Given the description of an element on the screen output the (x, y) to click on. 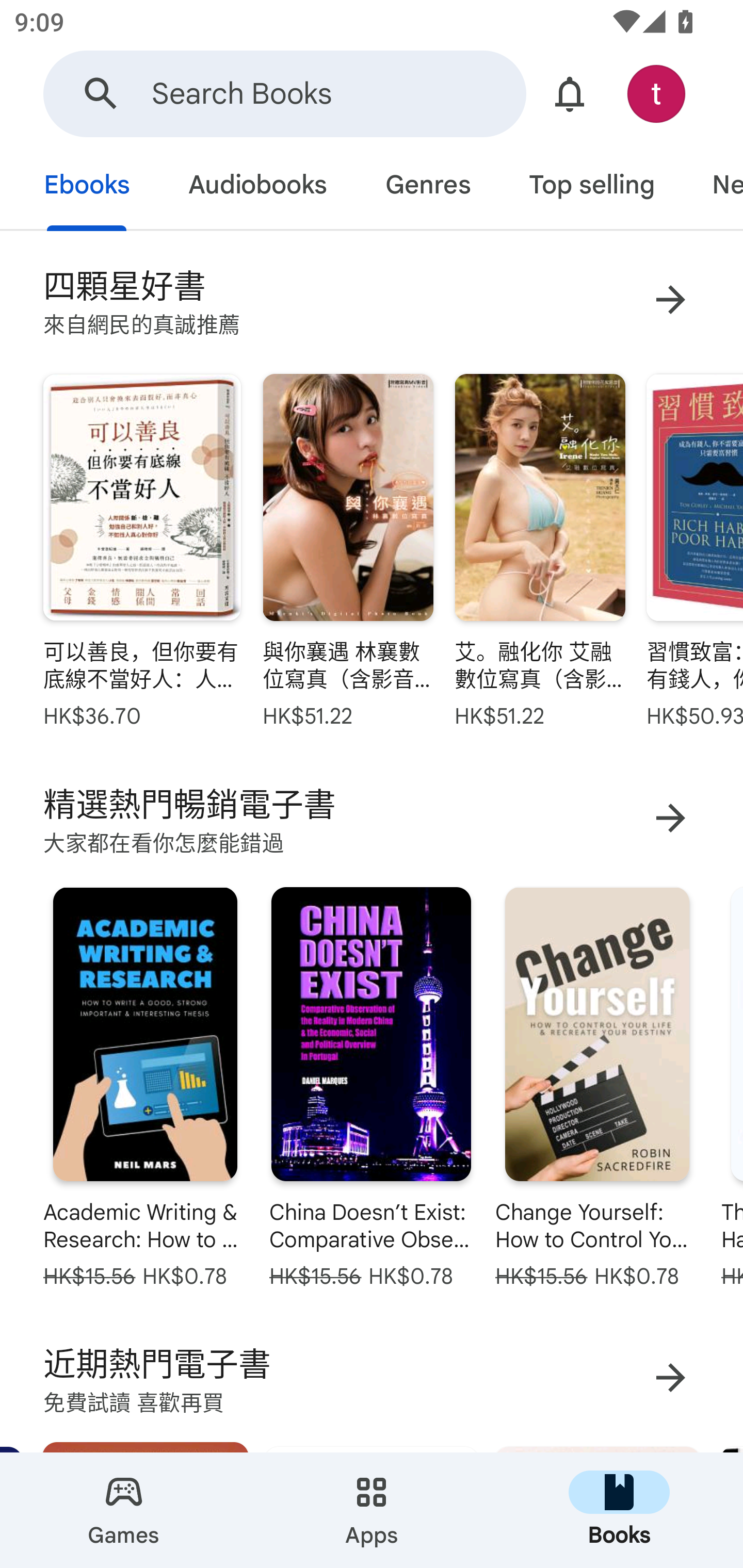
Search Google Play Search Books (284, 93)
Search Google Play (100, 93)
Show notifications and offers. (569, 93)
Audiobooks (257, 187)
Genres (427, 187)
Top selling (590, 187)
四顆星好書 來自網民的真誠推薦 More results for 四顆星好書 (371, 299)
More results for 四顆星好書 (670, 299)
精選熱門暢銷電子書 大家都在看你怎麼能錯過 More results for 精選熱門暢銷電子書 (371, 817)
More results for 精選熱門暢銷電子書 (670, 817)
近期熱門電子書 免費試讀 喜歡再買 More results for 近期熱門電子書 (371, 1377)
More results for 近期熱門電子書 (670, 1377)
Games (123, 1509)
Apps (371, 1509)
